Given the description of an element on the screen output the (x, y) to click on. 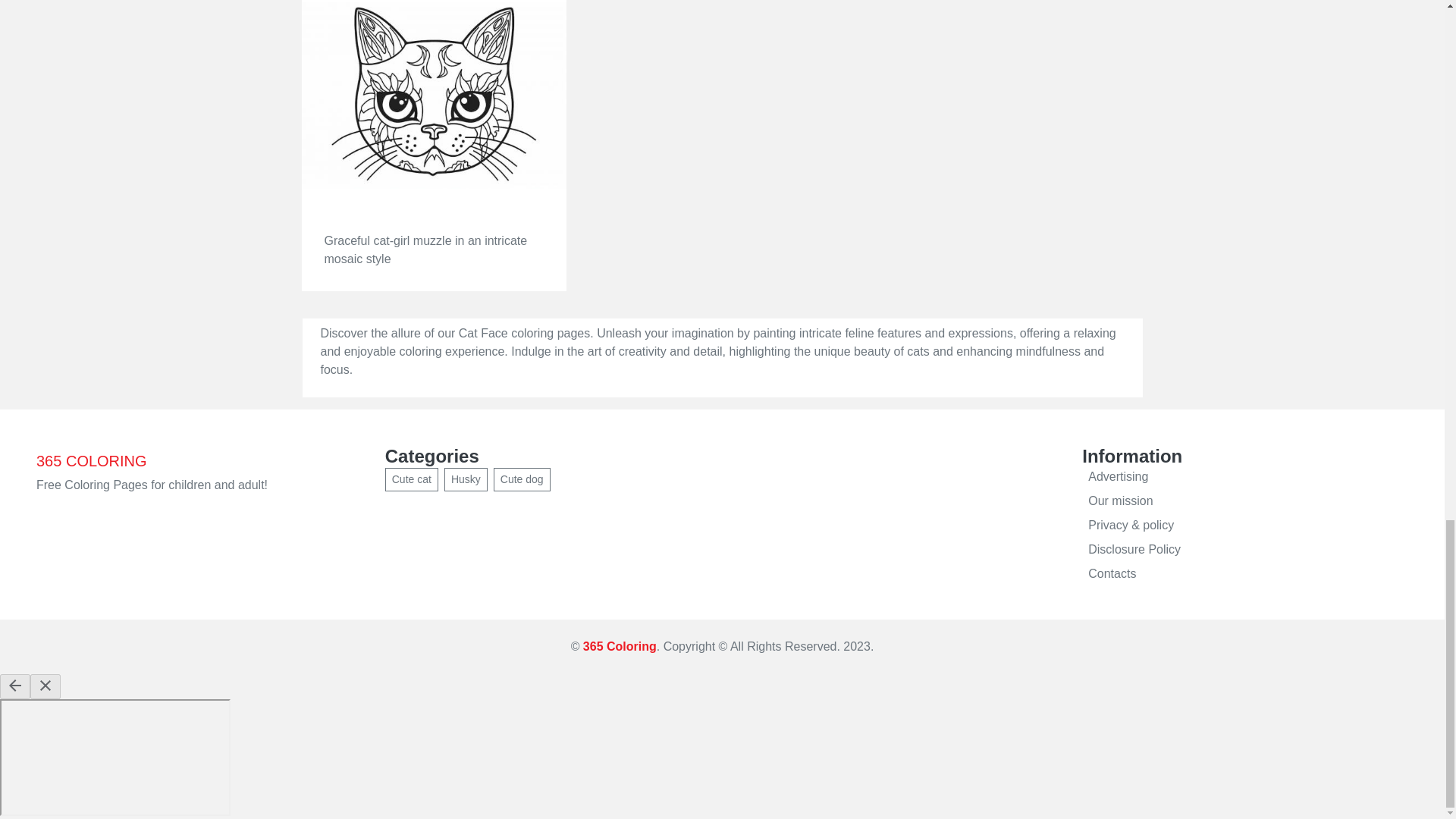
Cute cat (411, 479)
Husky (465, 479)
365 COLORING (91, 460)
Advertising (1244, 476)
Contacts (1244, 574)
Our mission (1244, 501)
Disclosure Policy (1244, 549)
Cute dog (521, 479)
365 Coloring (619, 645)
